Given the description of an element on the screen output the (x, y) to click on. 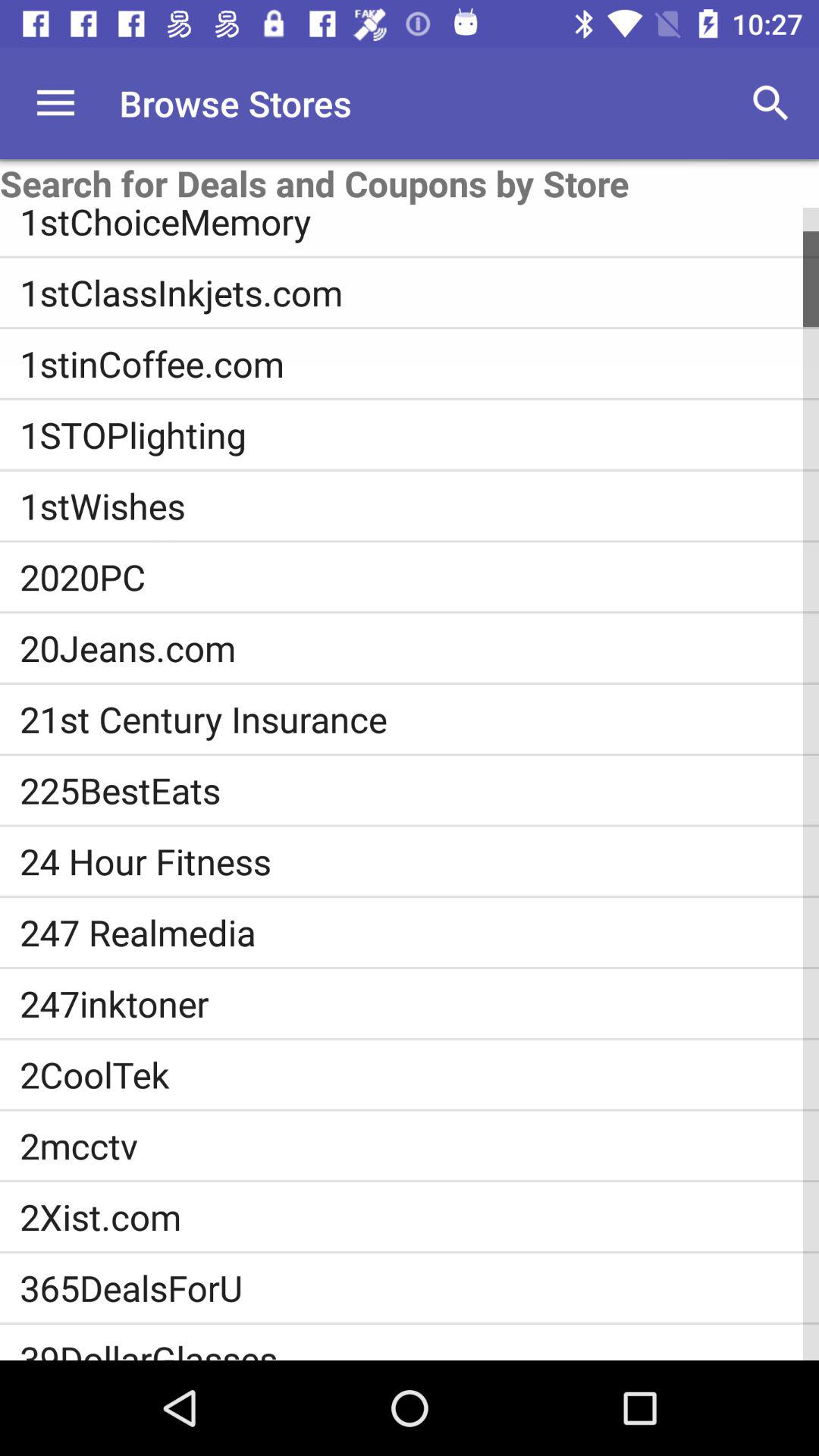
turn off the item below 1stwishes item (419, 576)
